Given the description of an element on the screen output the (x, y) to click on. 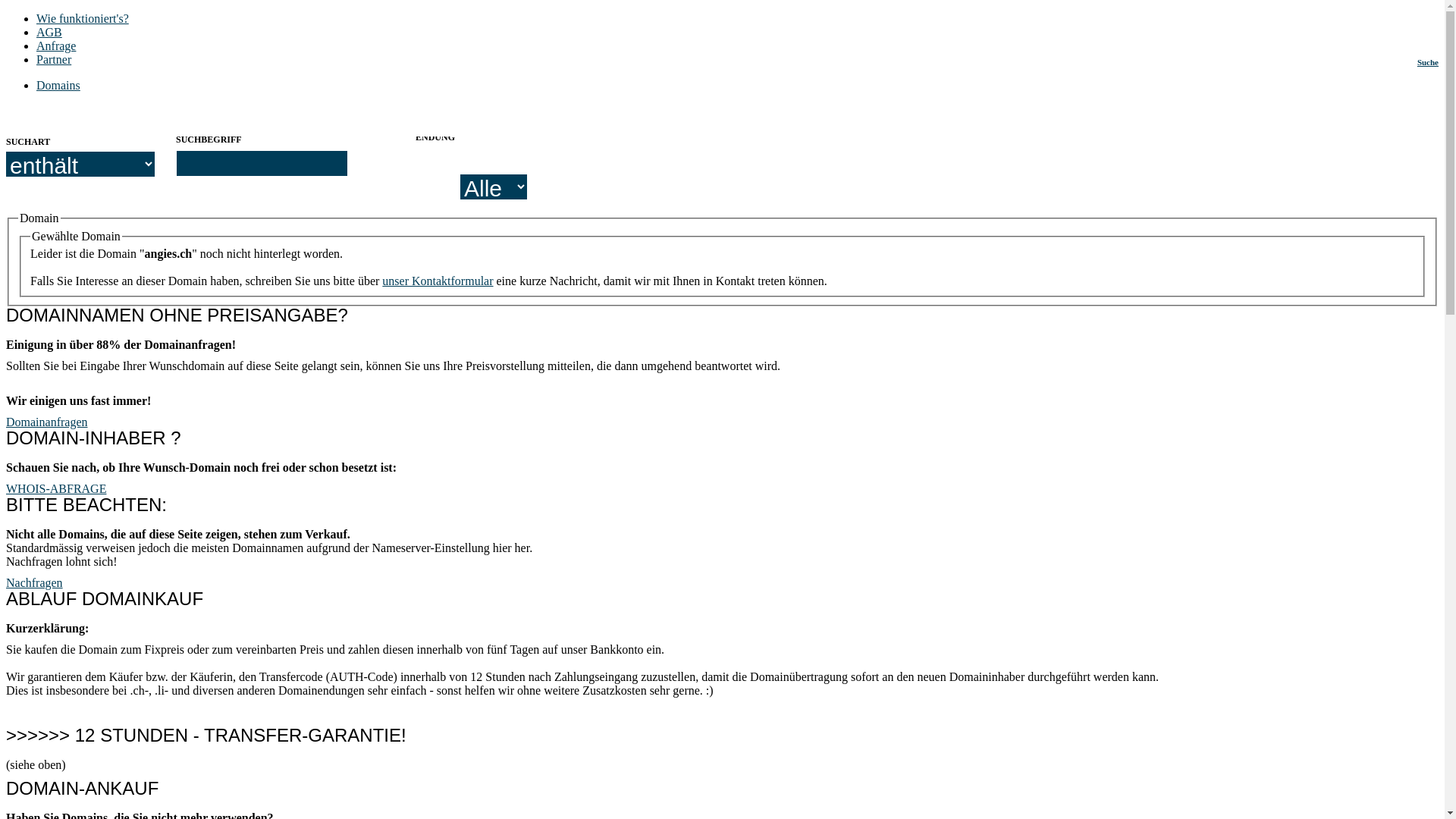
Nachfragen Element type: text (34, 582)
Partner Element type: text (53, 59)
Wie funktioniert's? Element type: text (82, 18)
Anfrage Element type: text (55, 45)
unser Kontaktformular Element type: text (437, 280)
Domainanfragen Element type: text (46, 421)
Domains Element type: text (58, 84)
Suche Element type: text (1427, 61)
WHOIS-ABFRAGE Element type: text (56, 488)
AGB Element type: text (49, 31)
